Given the description of an element on the screen output the (x, y) to click on. 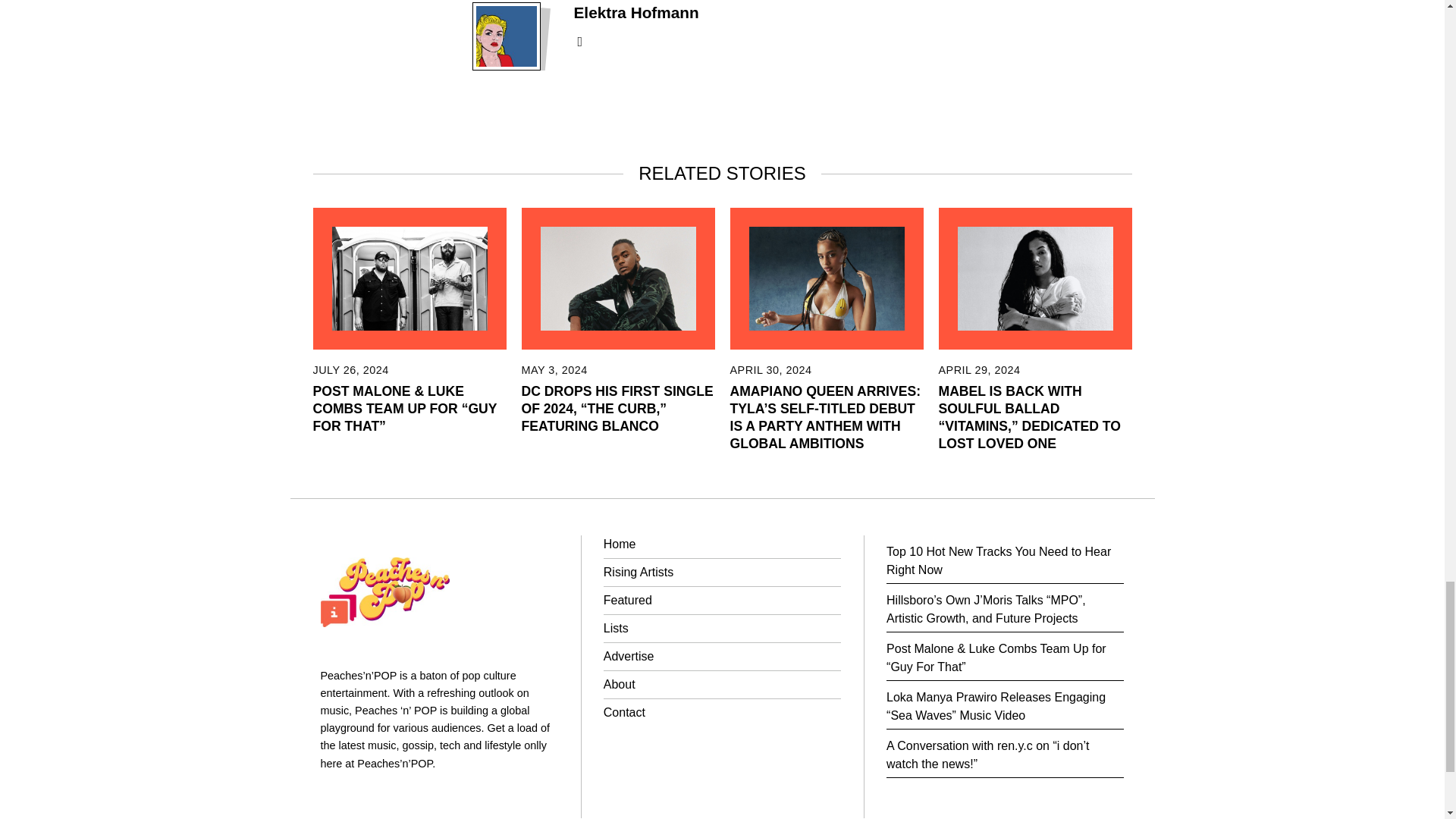
Elektra Hofmann (635, 12)
